Given the description of an element on the screen output the (x, y) to click on. 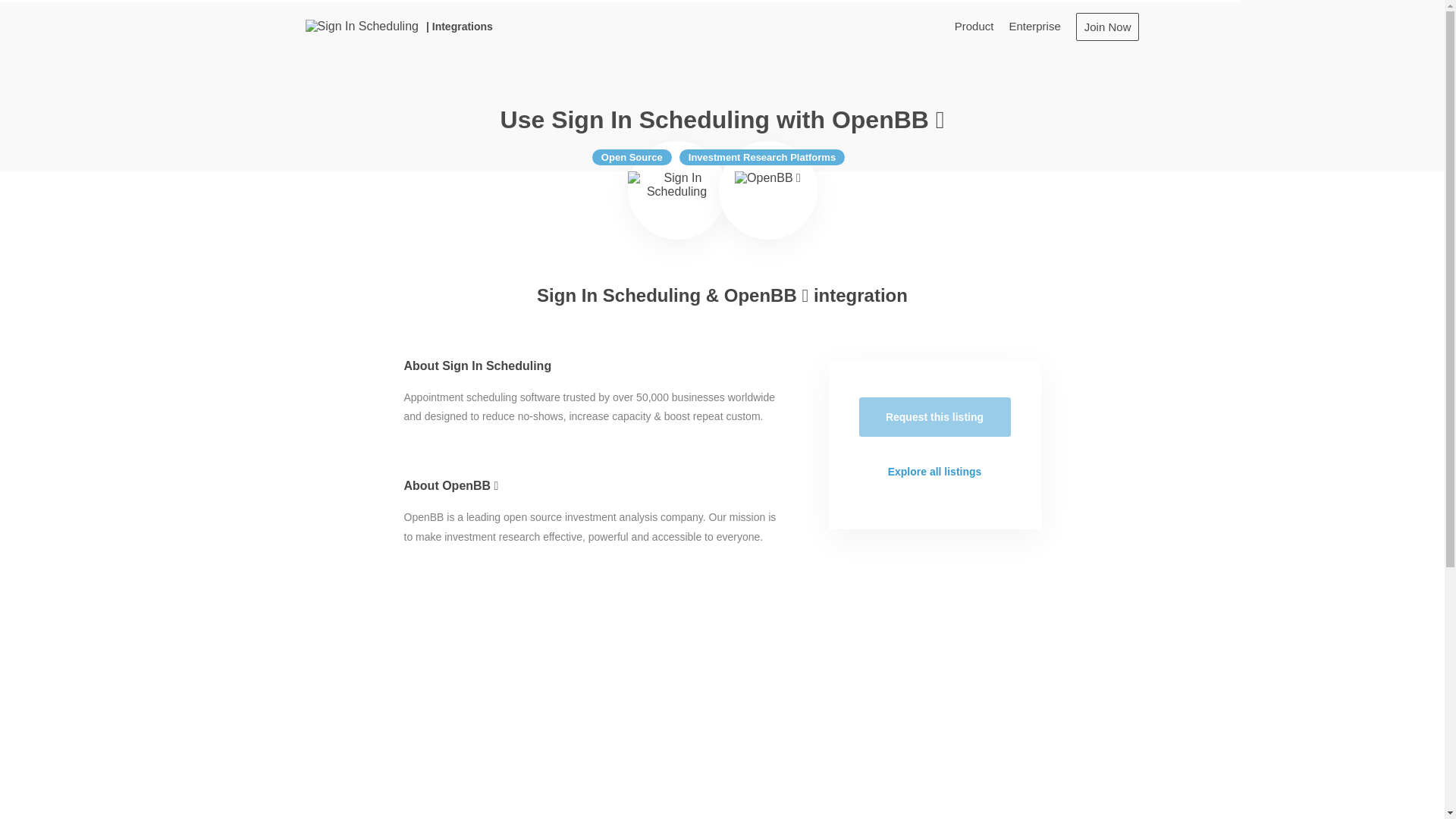
Sign In Scheduling (676, 190)
Product (974, 25)
Enterprise (1034, 25)
Request this listing (934, 416)
Sign In Scheduling (360, 26)
Explore all listings (934, 471)
Join Now (1107, 26)
